Given the description of an element on the screen output the (x, y) to click on. 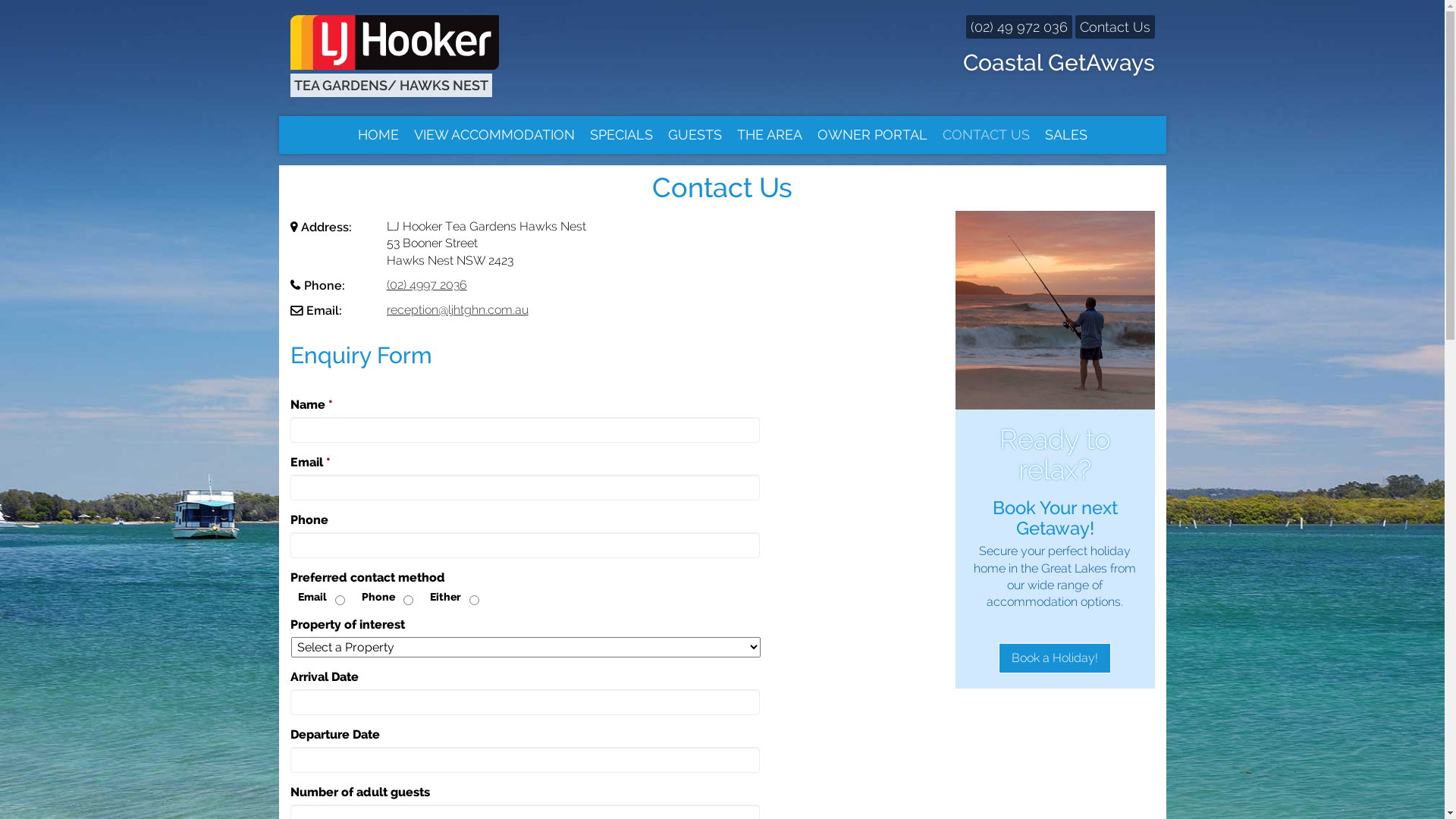
GUESTS Element type: text (693, 134)
(02) 4997 2036 Element type: text (426, 284)
VIEW ACCOMMODATION Element type: text (494, 134)
CONTACT US Element type: text (985, 134)
OWNER PORTAL Element type: text (872, 134)
TEA GARDENS/ HAWKS NEST Element type: text (425, 57)
SALES Element type: text (1066, 134)
SPECIALS Element type: text (621, 134)
(02) 49 972 036 Element type: text (1019, 26)
THE AREA Element type: text (769, 134)
HOME Element type: text (378, 134)
reception@ljhtghn.com.au Element type: text (457, 309)
Contact Us Element type: text (1114, 26)
